Given the description of an element on the screen output the (x, y) to click on. 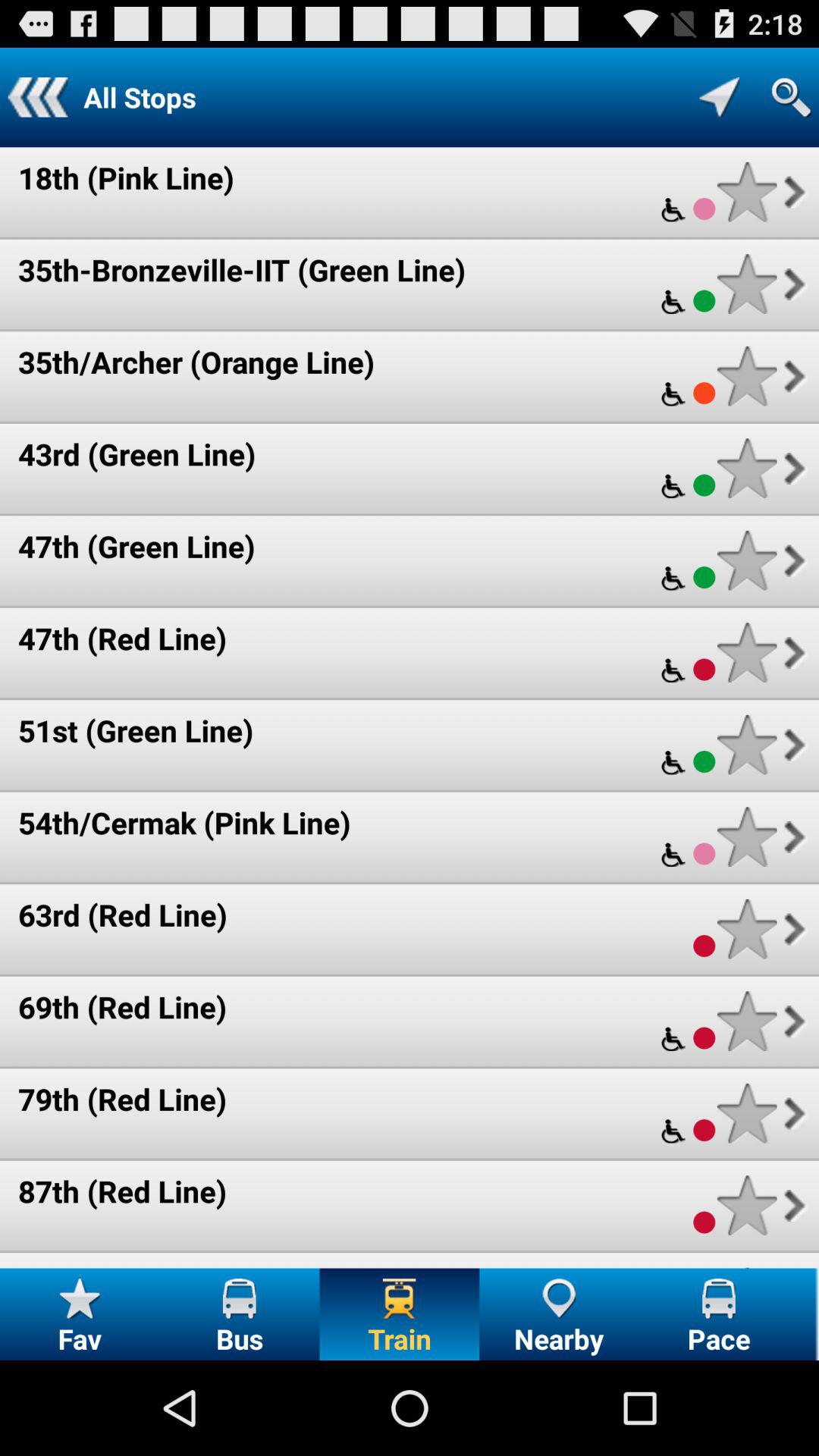
add list item to favorites (746, 560)
